Given the description of an element on the screen output the (x, y) to click on. 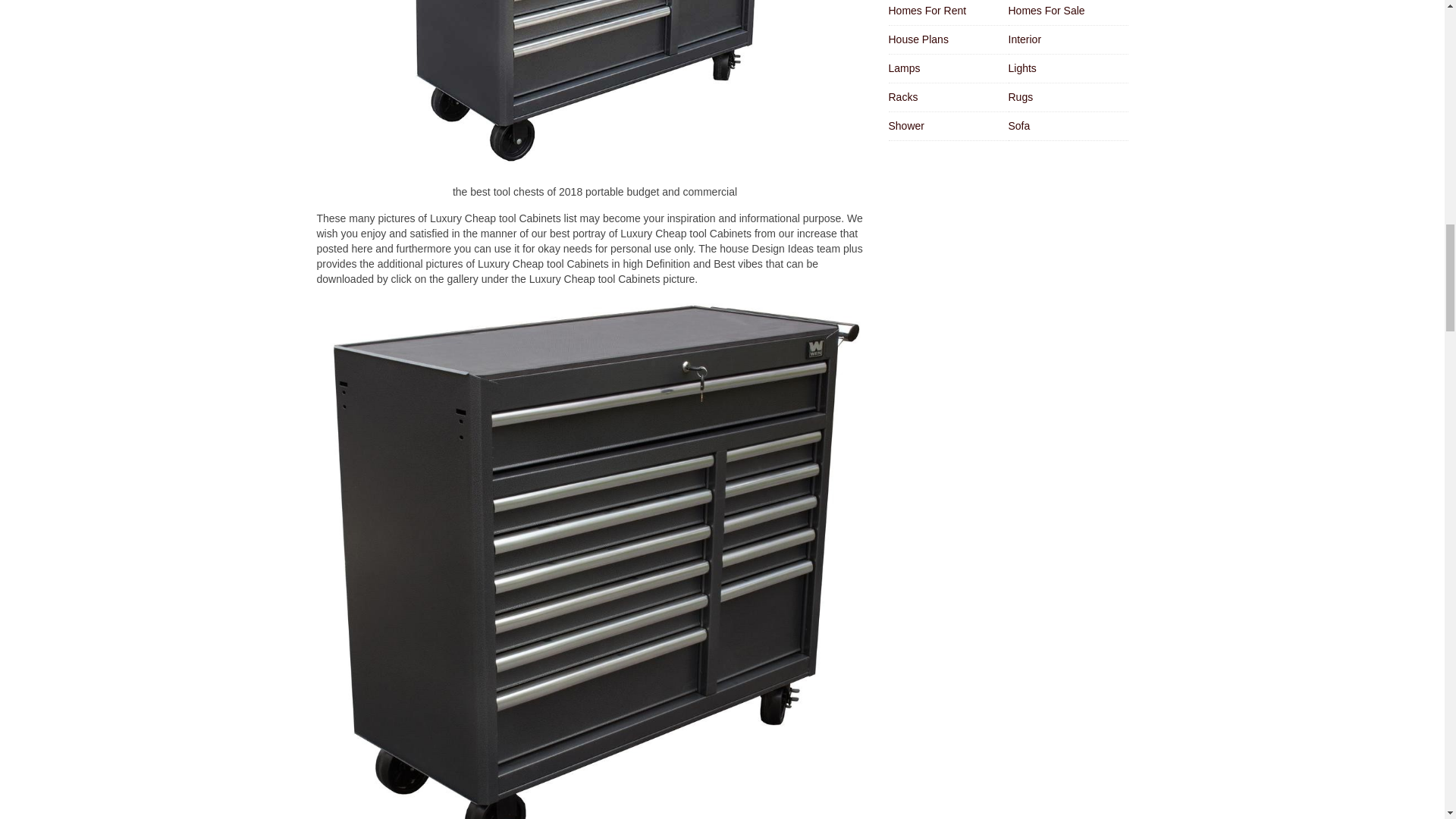
the best tool chests of 2018 portable budget and commercial (595, 86)
